Given the description of an element on the screen output the (x, y) to click on. 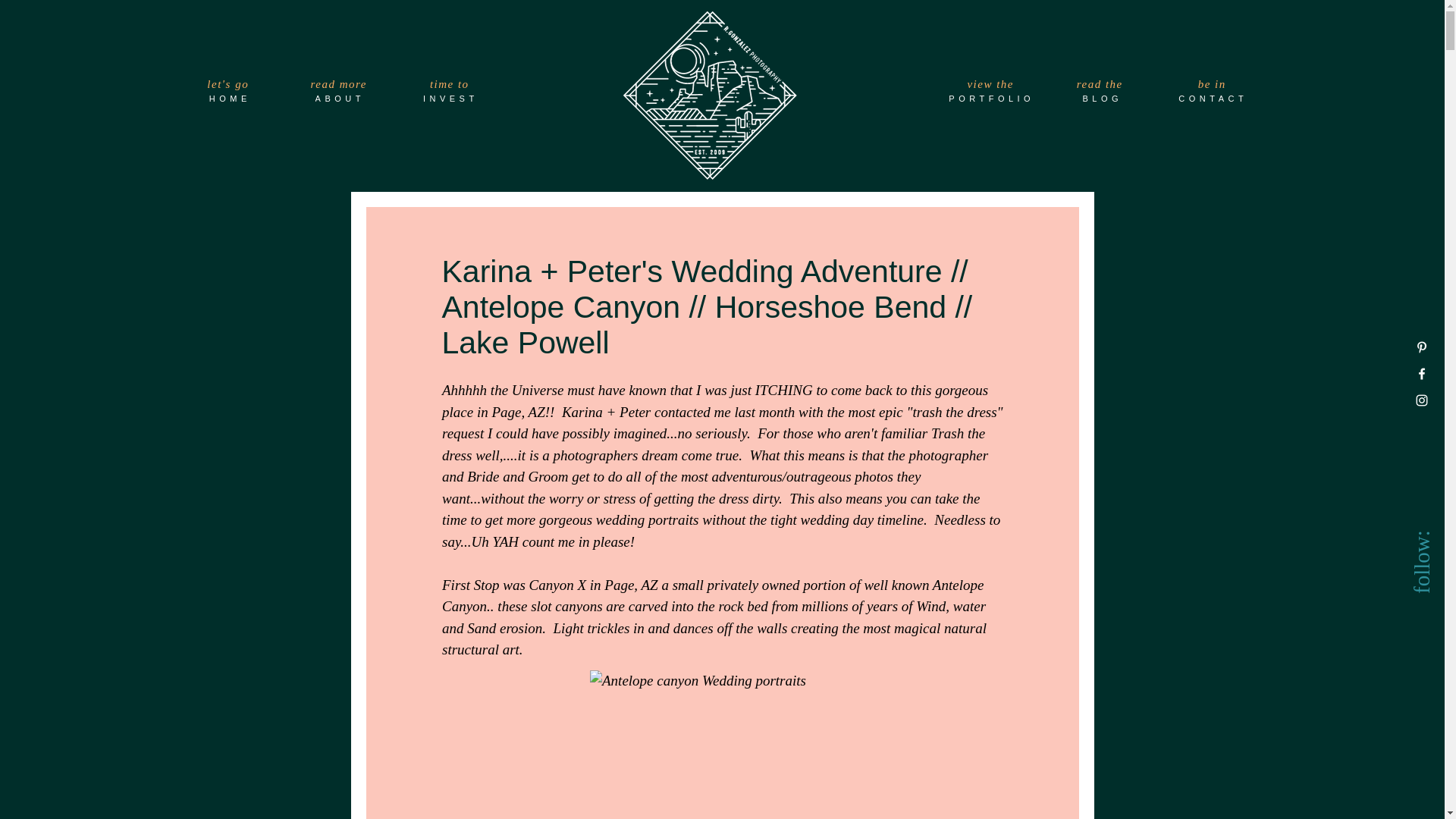
INVEST (451, 98)
ABOUT (340, 98)
rh-logo-sec-3-web.png (709, 95)
HOME (231, 98)
CONTACT (1213, 98)
BLOG (1103, 98)
PORTFOLIO (992, 98)
